Given the description of an element on the screen output the (x, y) to click on. 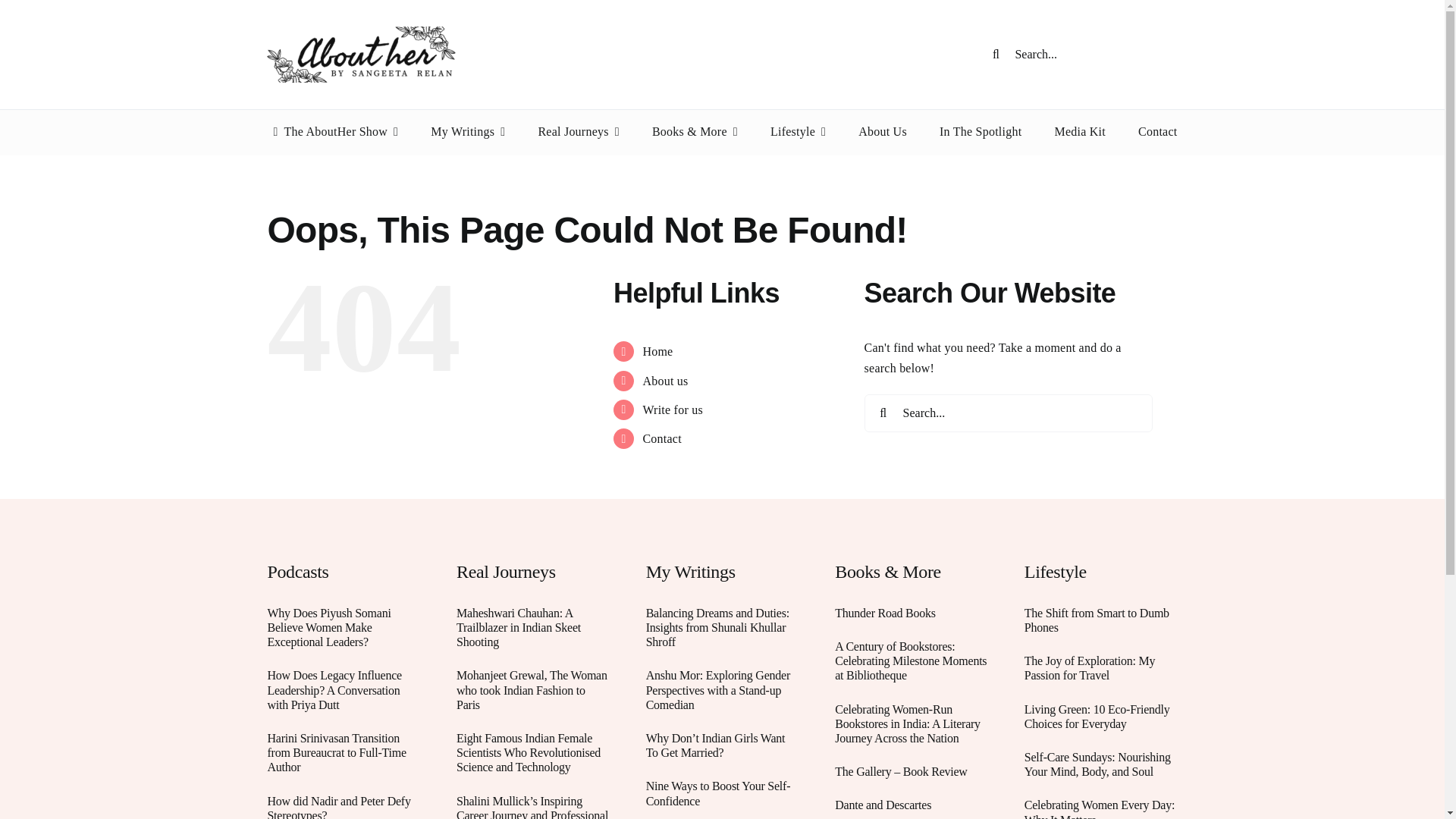
My Writings (467, 132)
Lifestyle (797, 132)
Real Journeys (577, 132)
The AboutHer Show (331, 132)
